Given the description of an element on the screen output the (x, y) to click on. 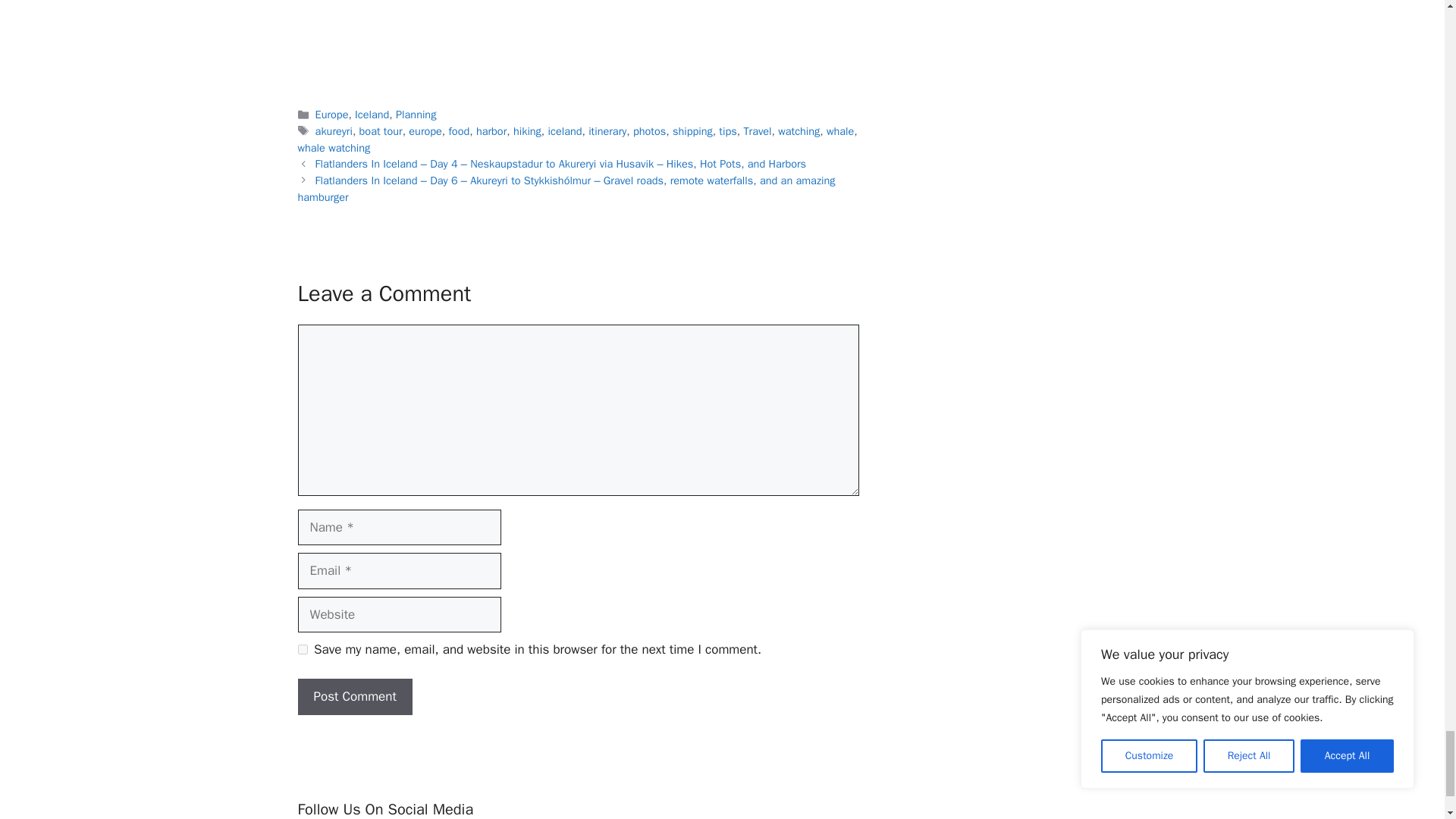
Post Comment (354, 696)
yes (302, 649)
